Given the description of an element on the screen output the (x, y) to click on. 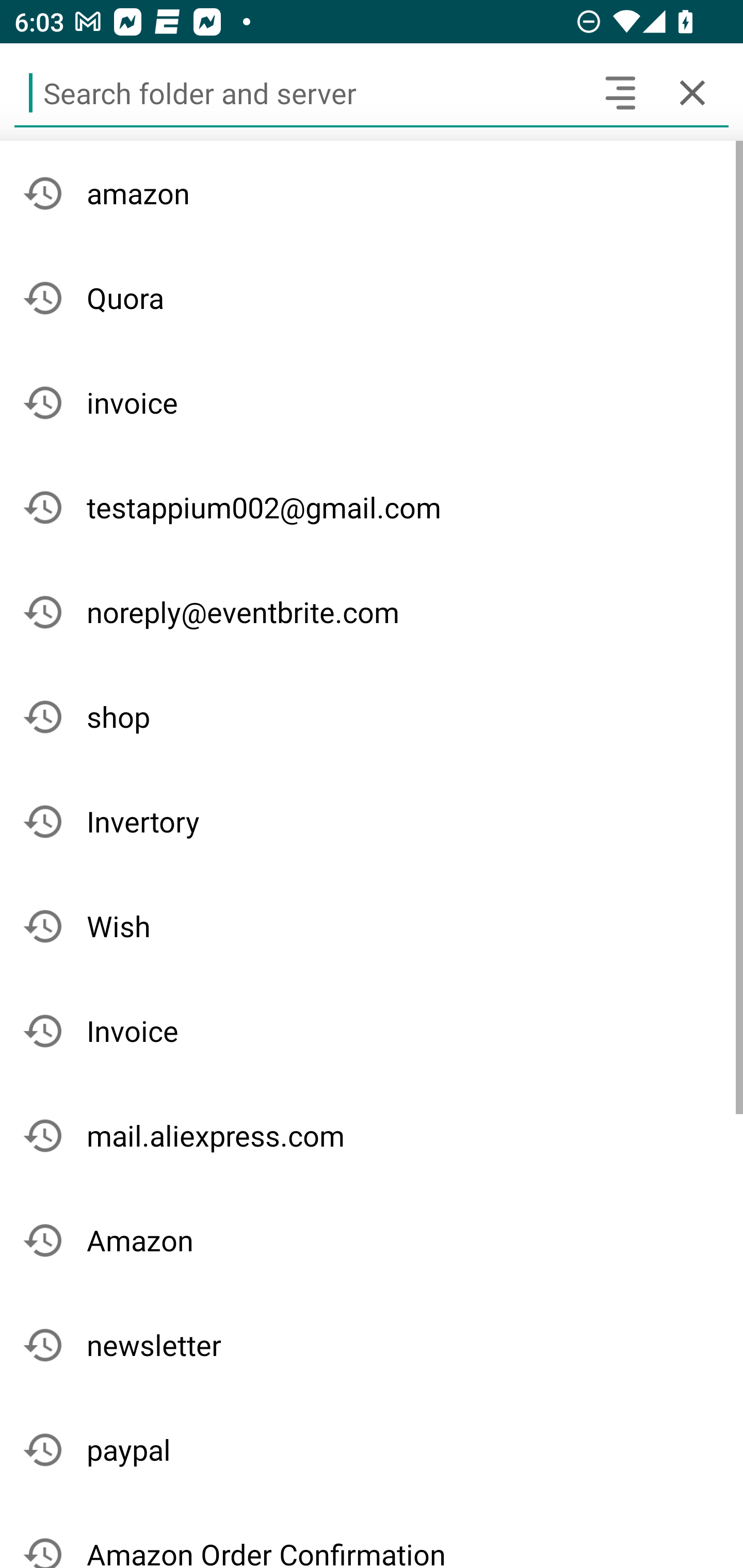
   Search folder and server (298, 92)
Search headers and text (619, 92)
Cancel (692, 92)
